Given the description of an element on the screen output the (x, y) to click on. 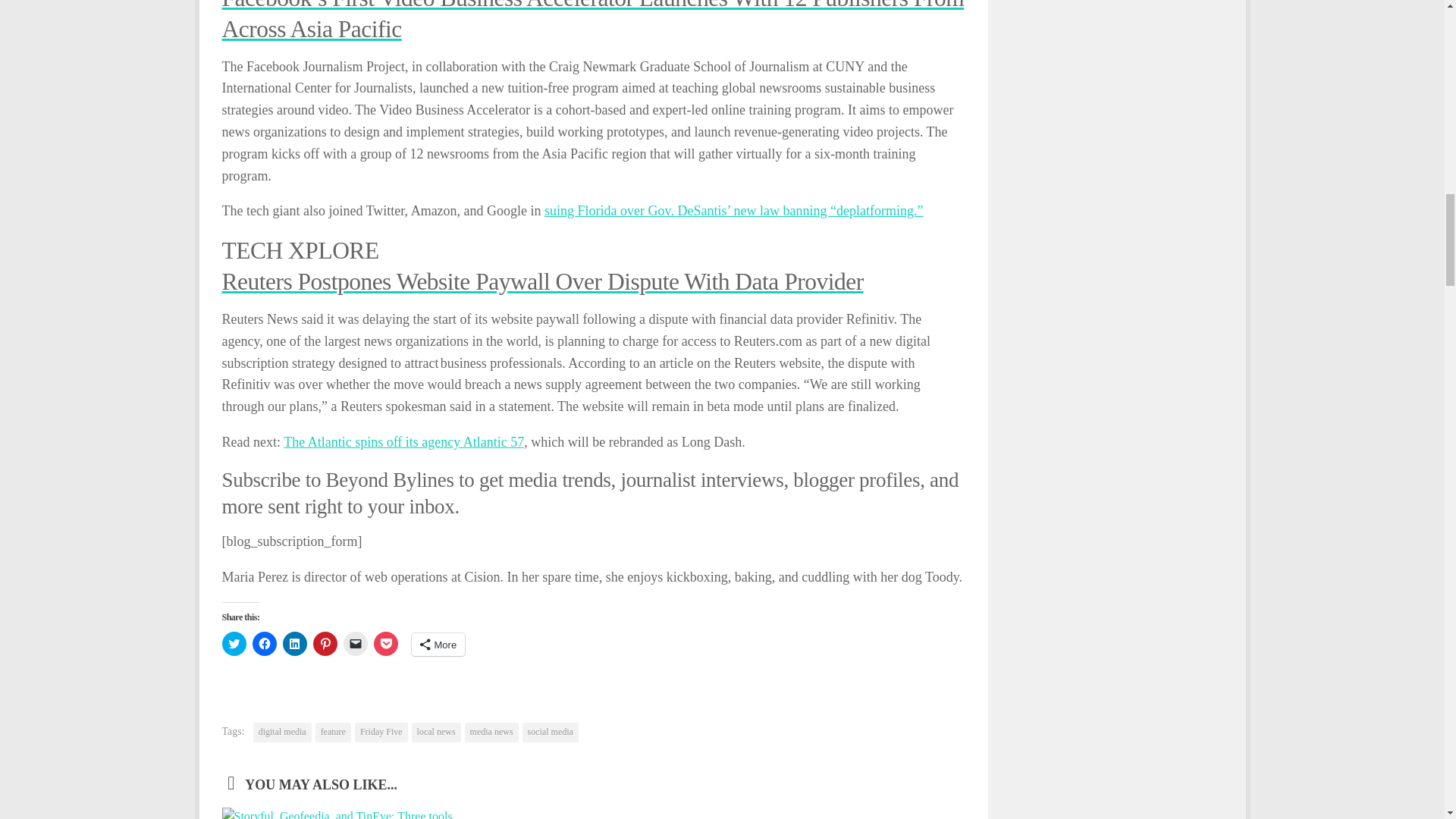
Click to share on LinkedIn (293, 643)
Click to share on Pinterest (324, 643)
Click to email a link to a friend (354, 643)
Click to share on Facebook (263, 643)
Click to share on Pocket (384, 643)
Click to share on Twitter (233, 643)
